Given the description of an element on the screen output the (x, y) to click on. 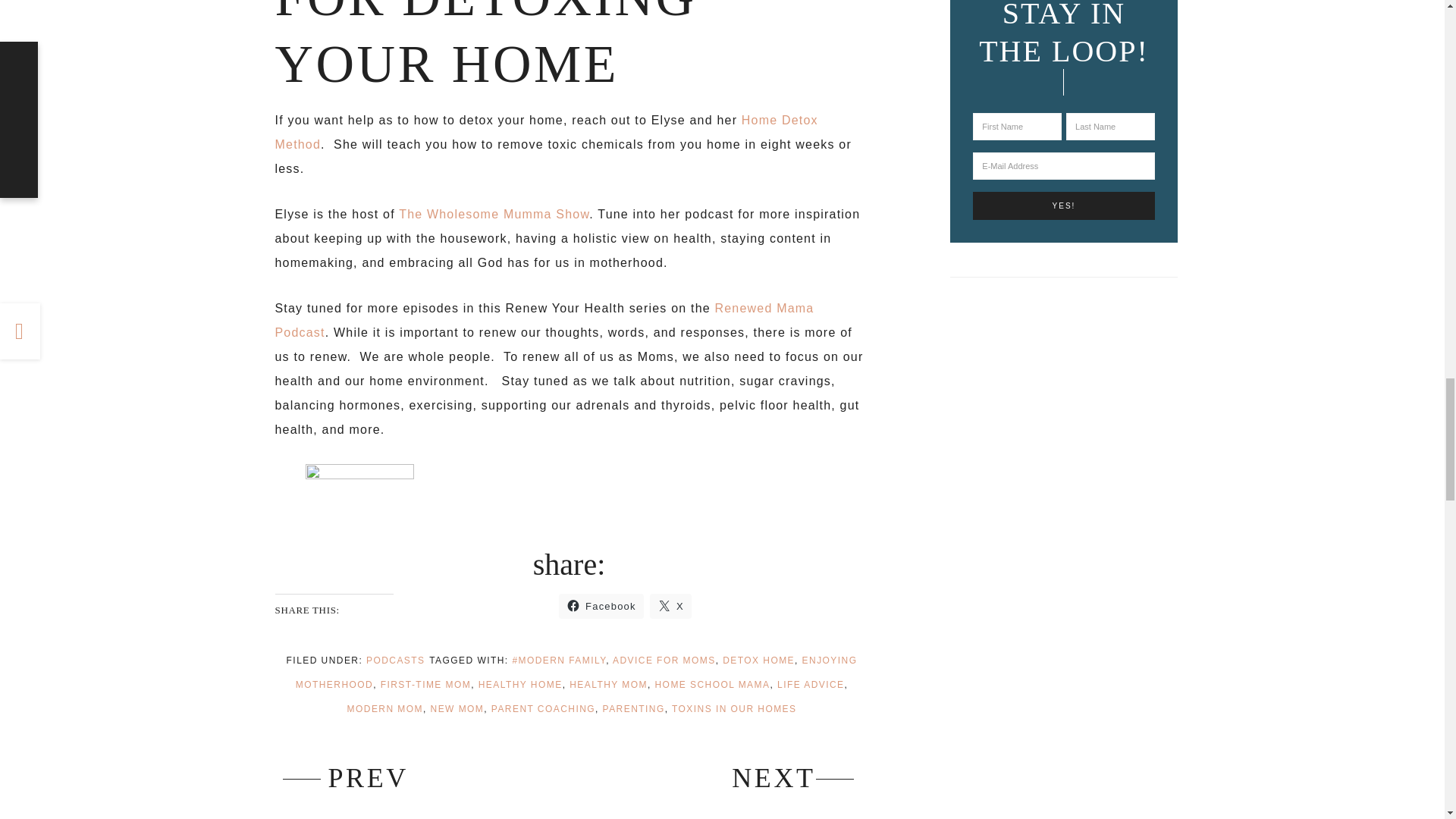
The Wholesome Mumma Show (493, 214)
Home Detox Method (545, 131)
Yes! (1063, 205)
Click to share on Facebook (601, 606)
Click to share on X (670, 606)
